Given the description of an element on the screen output the (x, y) to click on. 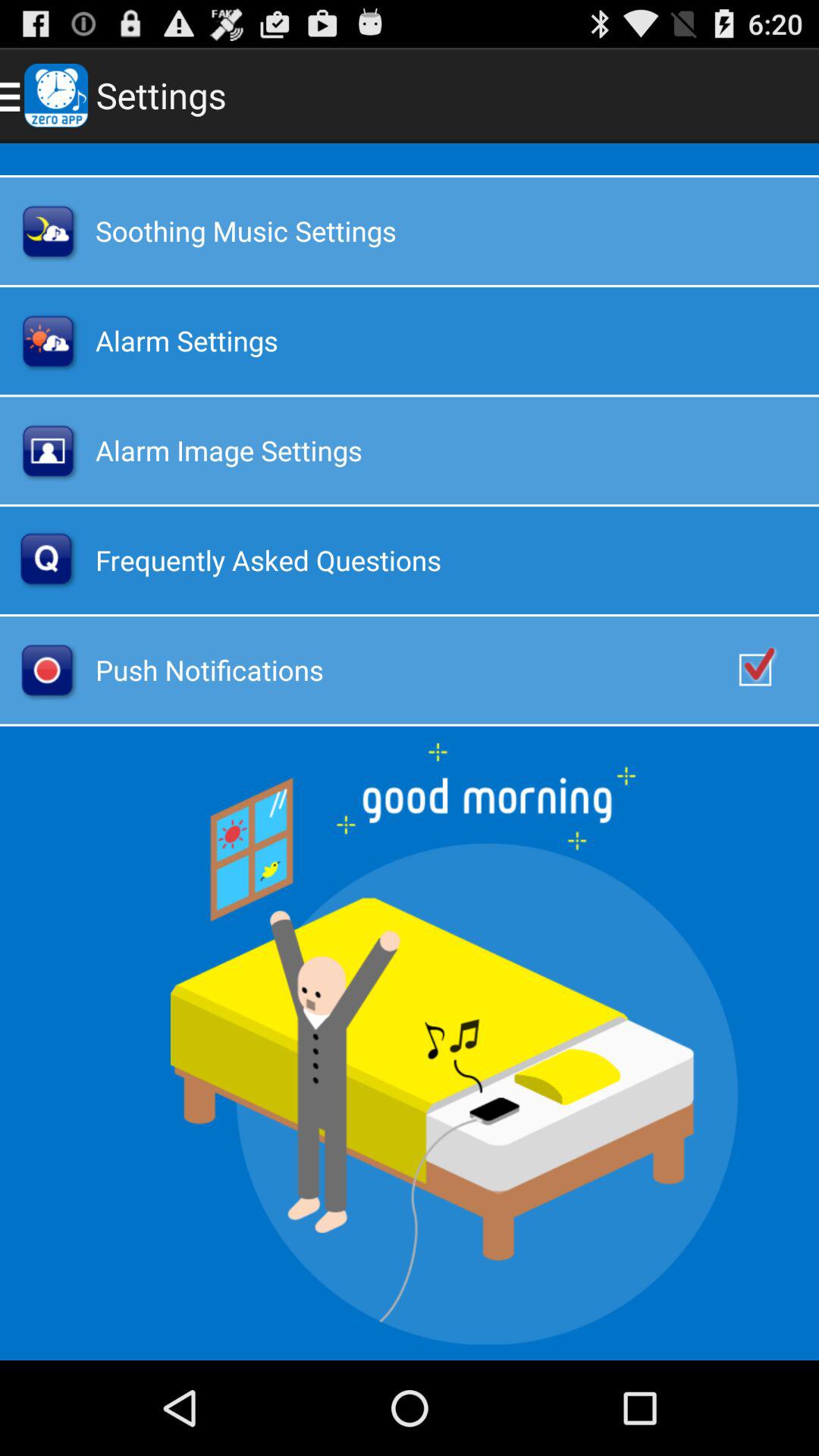
accept (771, 670)
